Given the description of an element on the screen output the (x, y) to click on. 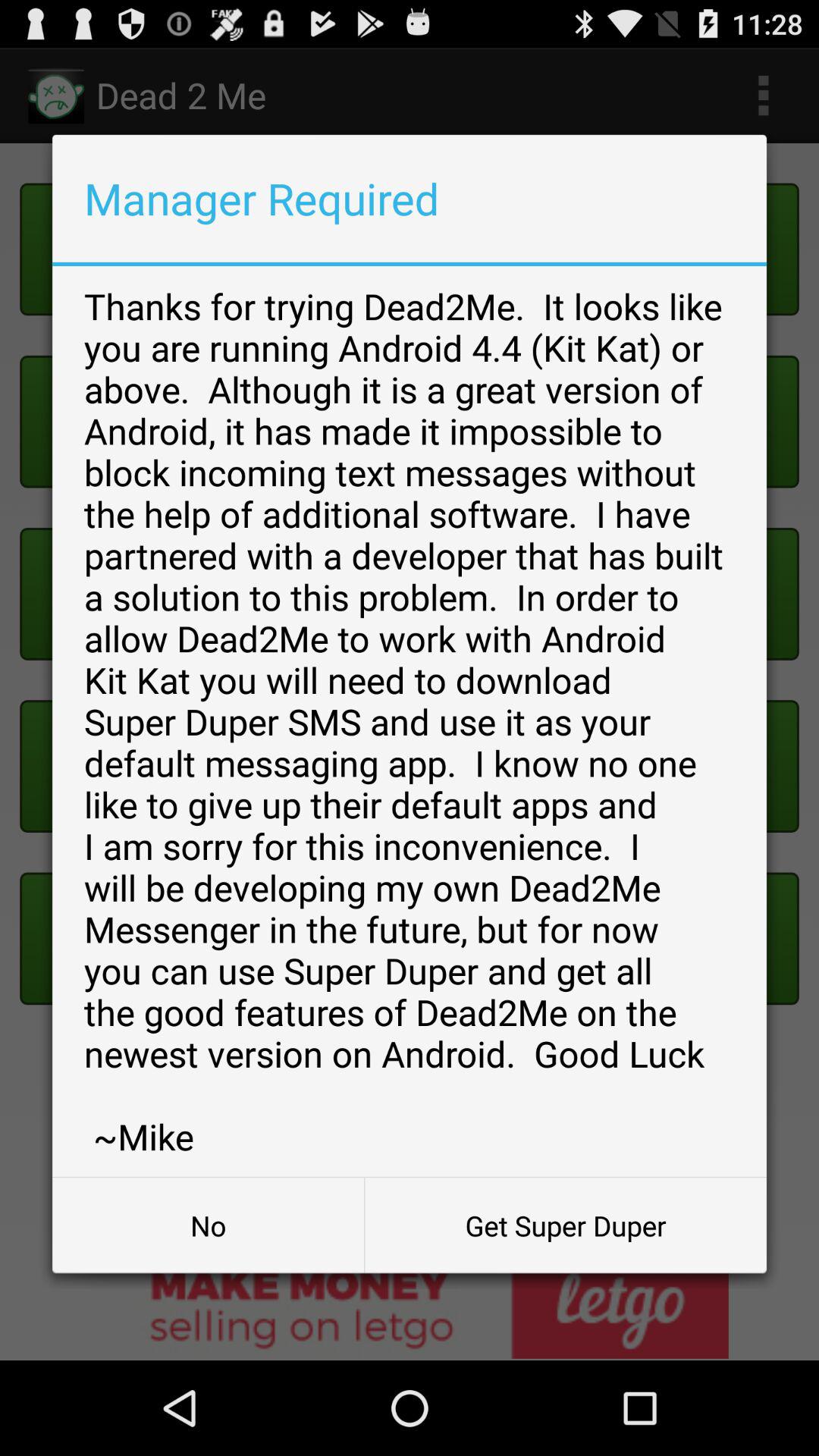
turn on item next to the no (565, 1225)
